Given the description of an element on the screen output the (x, y) to click on. 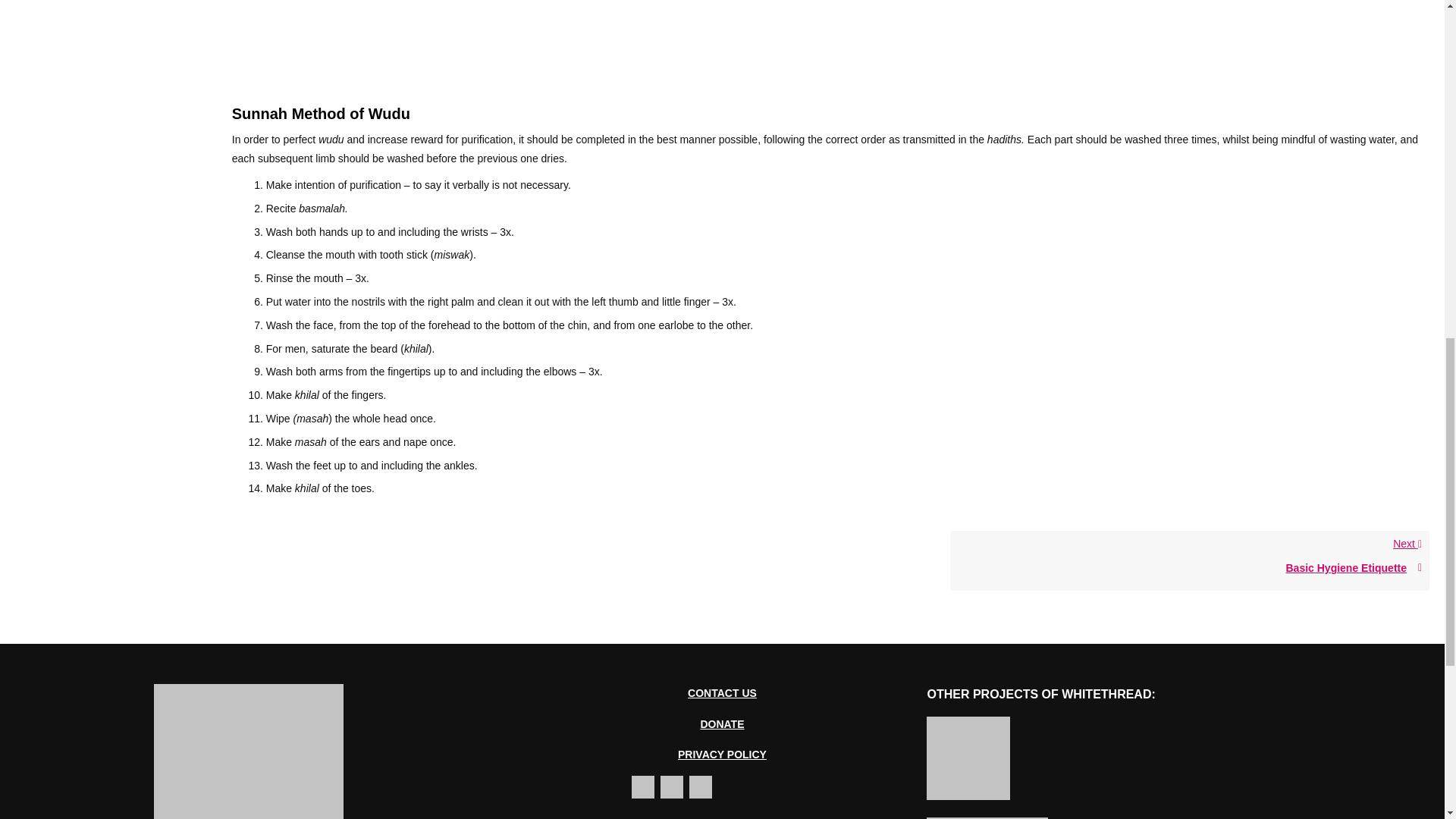
Basic Hygiene Etiquette (1190, 568)
